Given the description of an element on the screen output the (x, y) to click on. 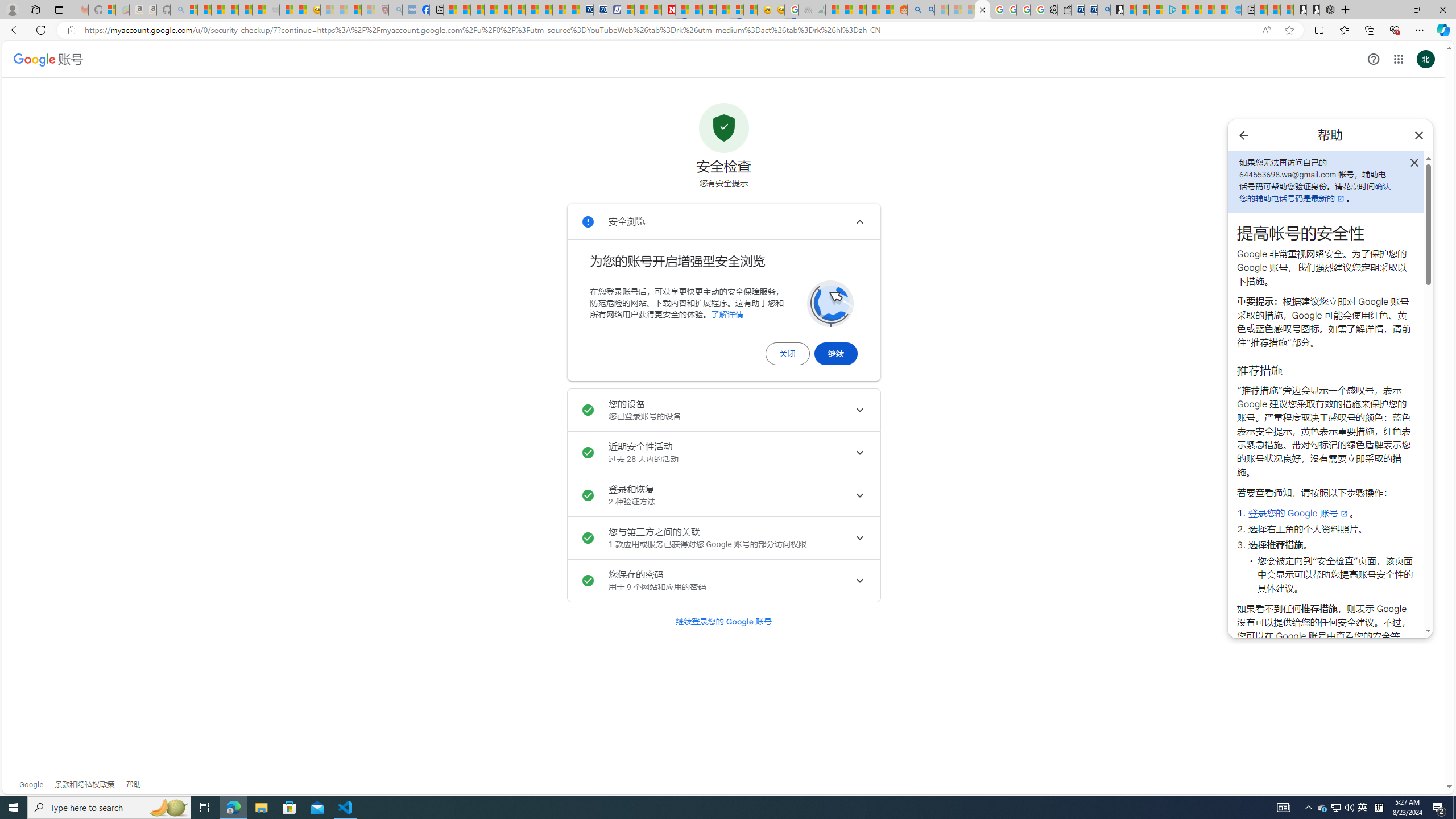
Climate Damage Becomes Too Severe To Reverse (490, 9)
